Given the description of an element on the screen output the (x, y) to click on. 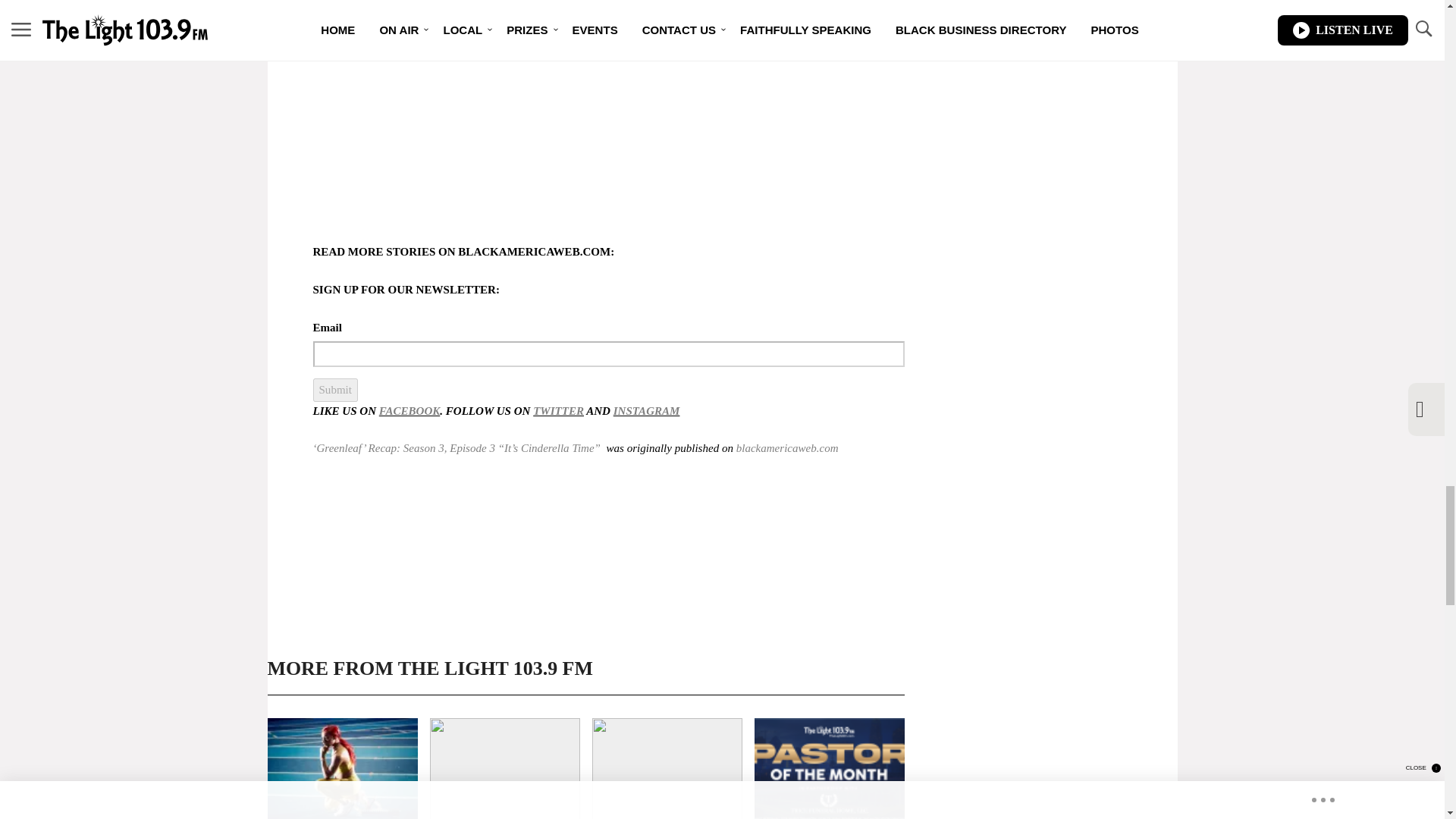
FACEBOOK (408, 410)
TWITTER (557, 410)
Vuukle Sharebar Widget (585, 619)
INSTAGRAM (645, 410)
blackamericaweb.com (787, 448)
Submit (334, 390)
Embedded video (524, 113)
